Given the description of an element on the screen output the (x, y) to click on. 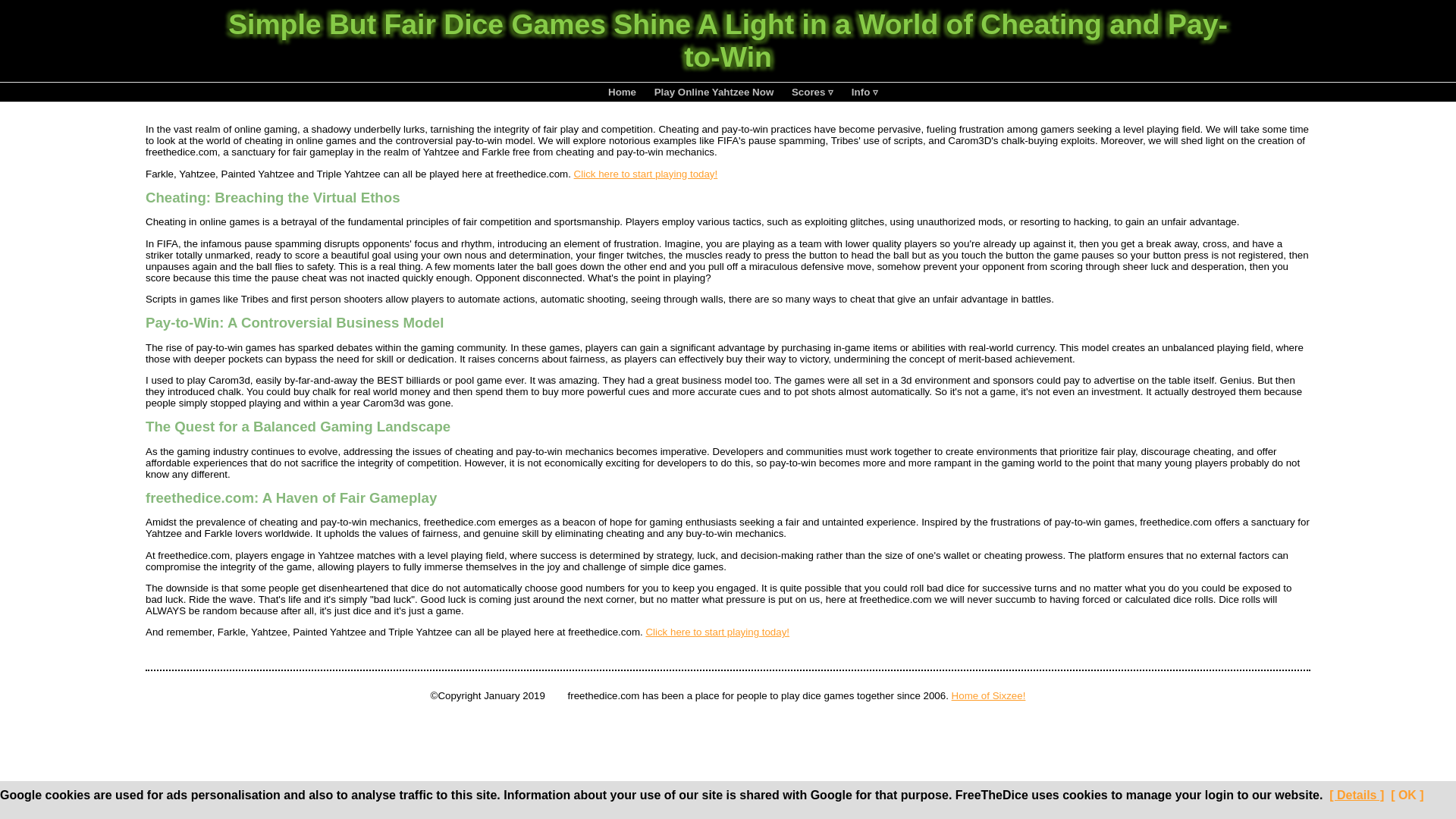
Home of Sixzee! (989, 695)
Click here to start playing today! (645, 173)
Play Online Yahtzee Now (713, 91)
Home (622, 91)
Free Online Yahtzee Game (622, 91)
Click here to start playing today! (717, 632)
